Given the description of an element on the screen output the (x, y) to click on. 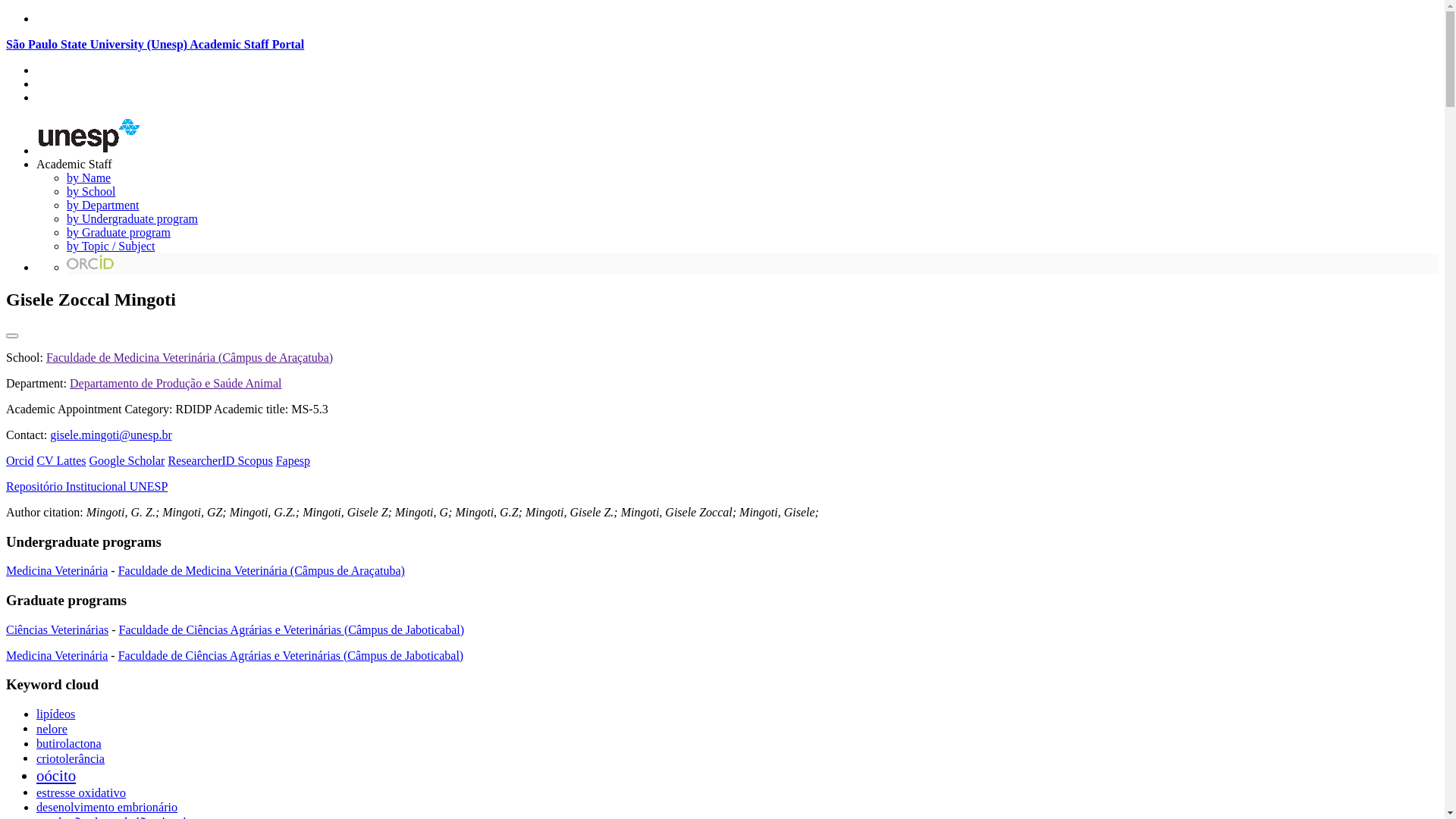
estresse oxidativo Element type: text (80, 792)
orcid Element type: hover (89, 262)
Scopus Element type: text (254, 460)
Academic Staff Element type: text (74, 163)
by Name Element type: text (88, 177)
Export as image Element type: hover (12, 335)
Orcid Element type: text (19, 460)
Google Scholar Element type: text (126, 460)
ResearcherID Element type: text (202, 460)
by Department Element type: text (102, 204)
by School Element type: text (90, 191)
CV Lattes Element type: text (60, 460)
by Undergraduate program Element type: text (131, 218)
Fapesp Element type: text (293, 460)
gisele.mingoti@unesp.br Element type: text (111, 434)
by Graduate program Element type: text (118, 231)
butirolactona Element type: text (68, 743)
by Topic / Subject Element type: text (110, 245)
nelore Element type: text (51, 728)
